Given the description of an element on the screen output the (x, y) to click on. 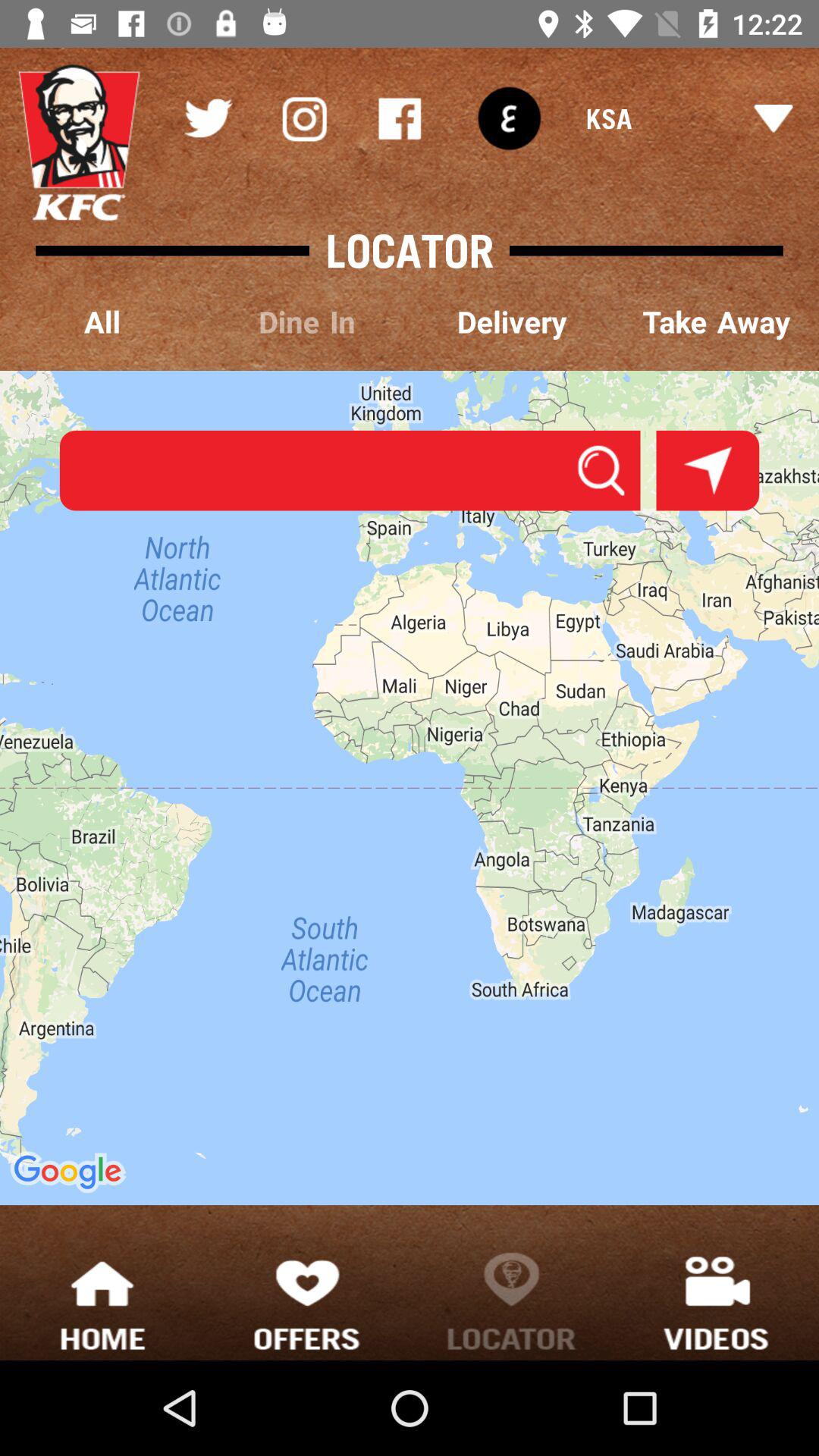
turn off icon below all item (349, 470)
